Given the description of an element on the screen output the (x, y) to click on. 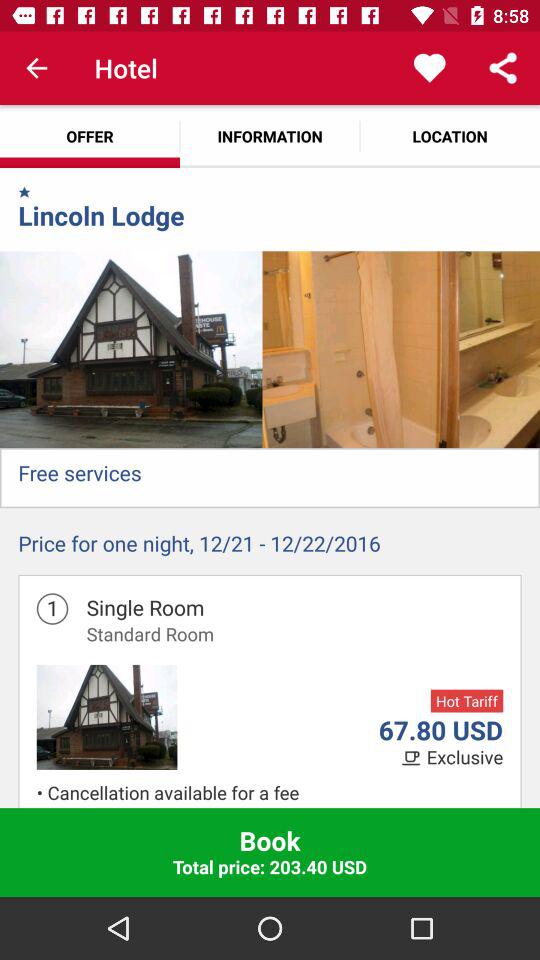
turn off price for one item (269, 548)
